Given the description of an element on the screen output the (x, y) to click on. 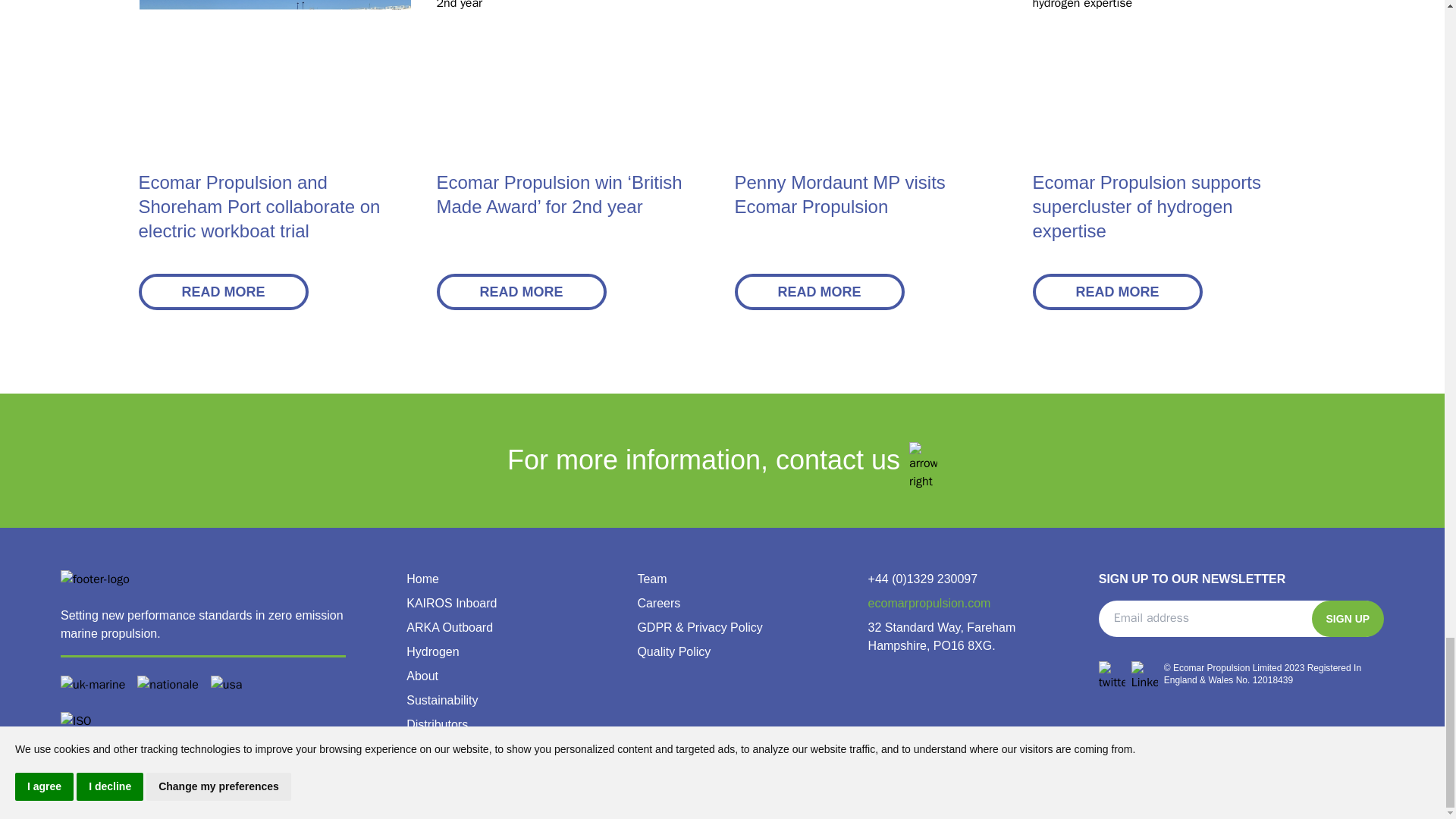
Distributors (436, 724)
READ MORE (521, 291)
News (421, 748)
Home (422, 578)
Contact (427, 772)
READ MORE (1117, 291)
ARKA Outboard (449, 626)
For more information, contact us (722, 460)
Hydrogen (432, 651)
About (422, 675)
SIGN UP (1347, 618)
Sustainability (441, 699)
READ MORE (222, 291)
KAIROS Inboard (451, 603)
READ MORE (818, 291)
